Given the description of an element on the screen output the (x, y) to click on. 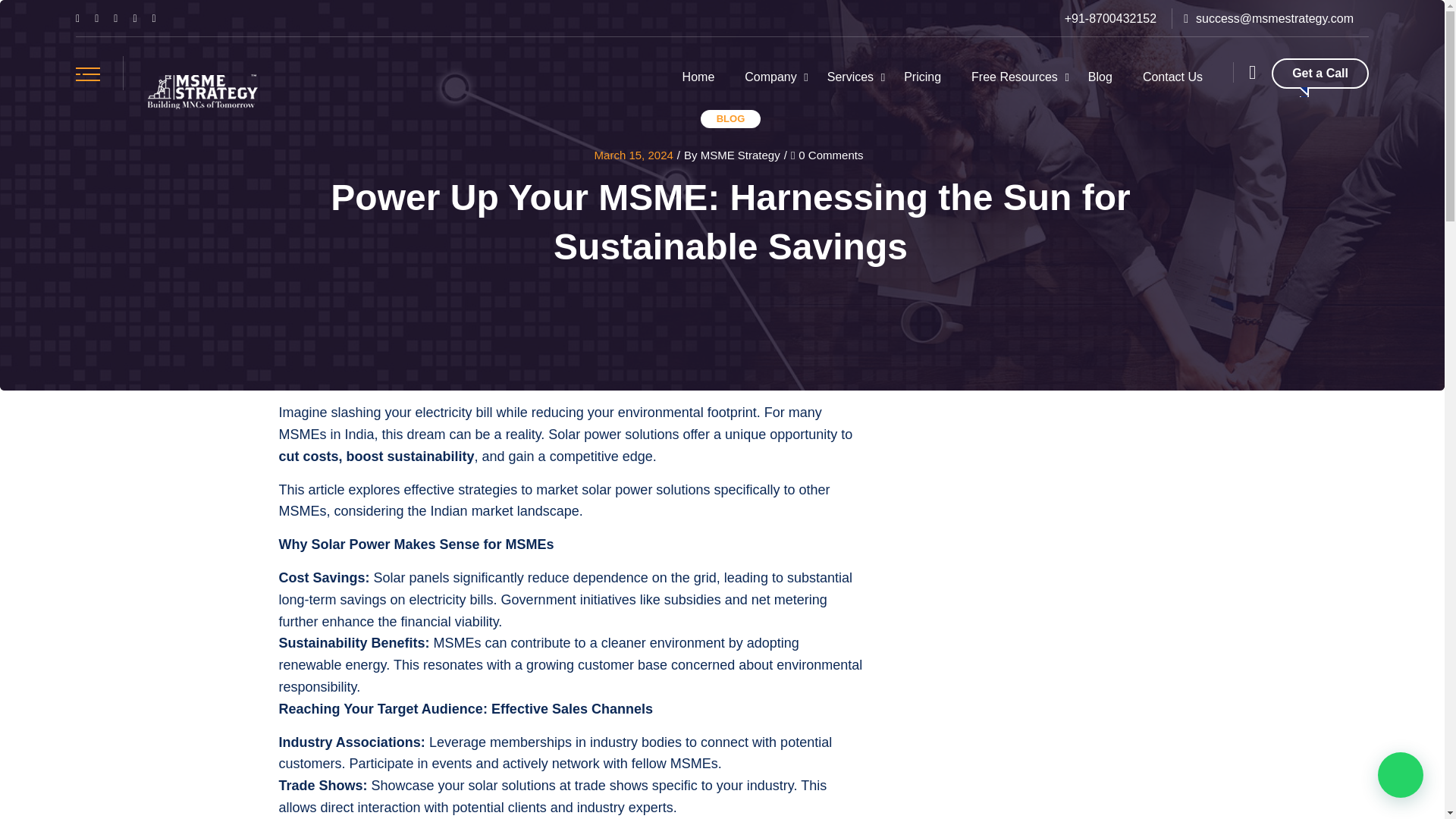
Services (850, 76)
Contact Us (1172, 76)
Free Resources (1014, 76)
Home (698, 76)
Pricing (922, 76)
Company (770, 76)
MSME Strategy (201, 92)
Services (850, 76)
Company (770, 76)
Free Resources (1014, 76)
Get a Call (1319, 73)
Pricing (922, 76)
Home (698, 76)
